Given the description of an element on the screen output the (x, y) to click on. 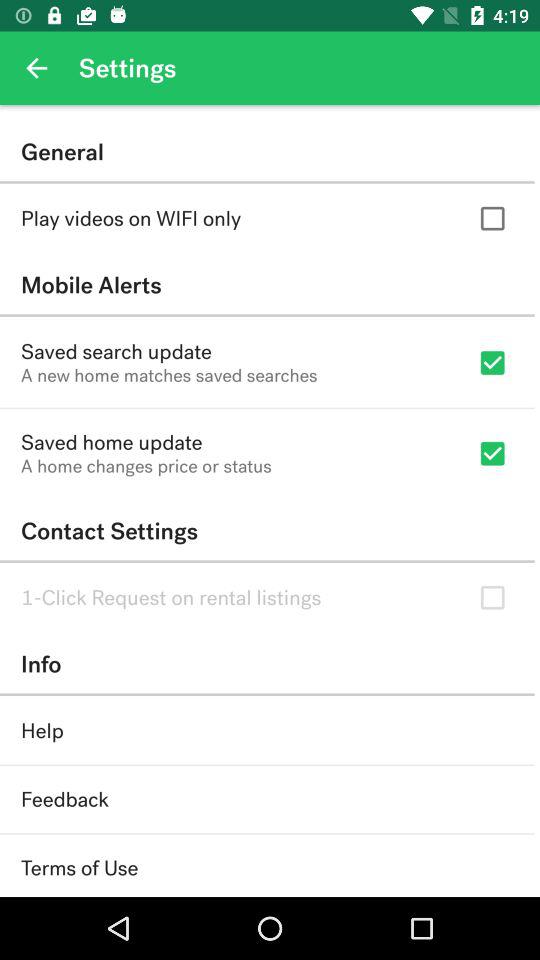
jump until the info item (267, 664)
